Given the description of an element on the screen output the (x, y) to click on. 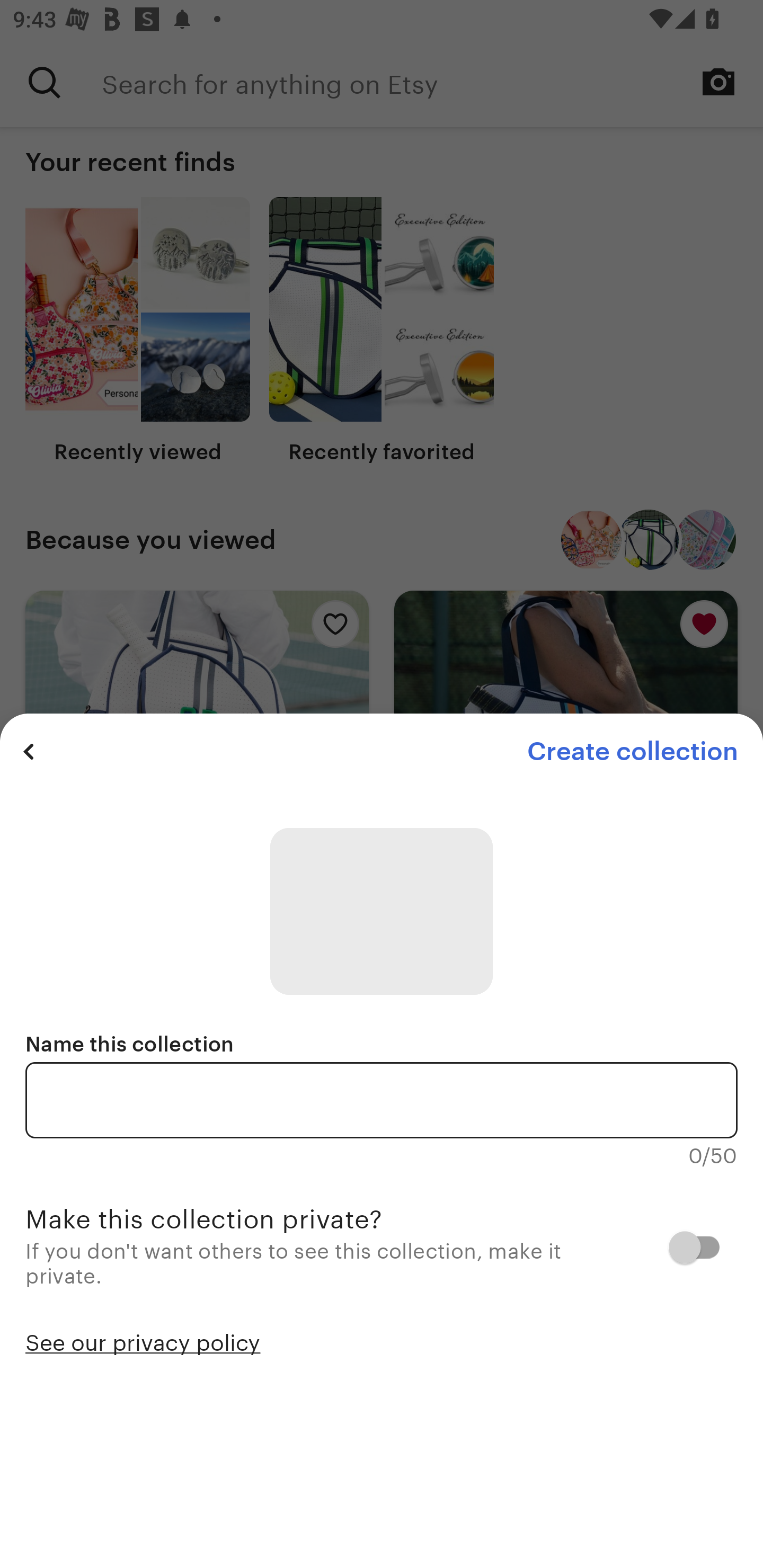
Previous (28, 751)
Create collection (632, 751)
See our privacy policy (142, 1341)
